Given the description of an element on the screen output the (x, y) to click on. 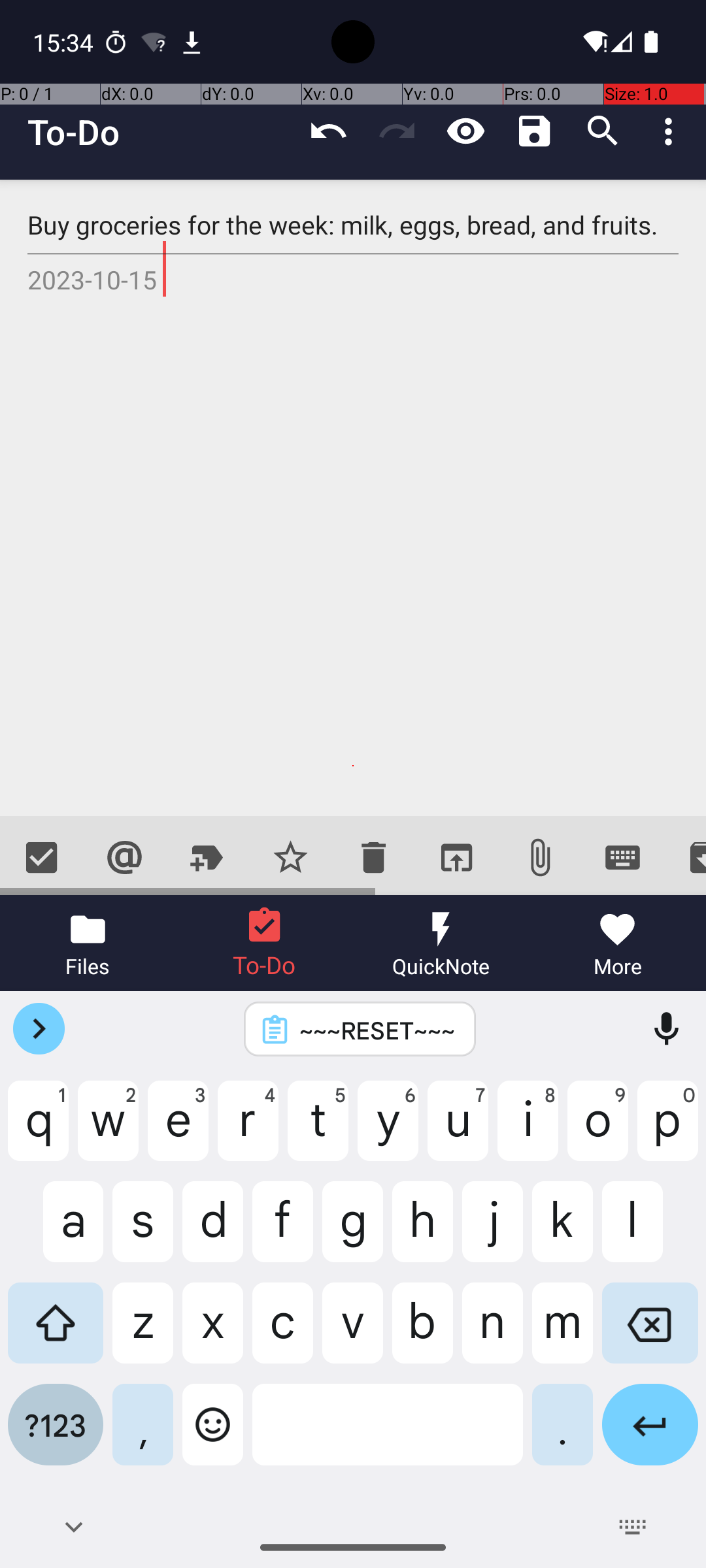
Buy groceries for the week: milk, eggs, bread, and fruits.
2023-10-15  Element type: android.widget.EditText (353, 497)
